Given the description of an element on the screen output the (x, y) to click on. 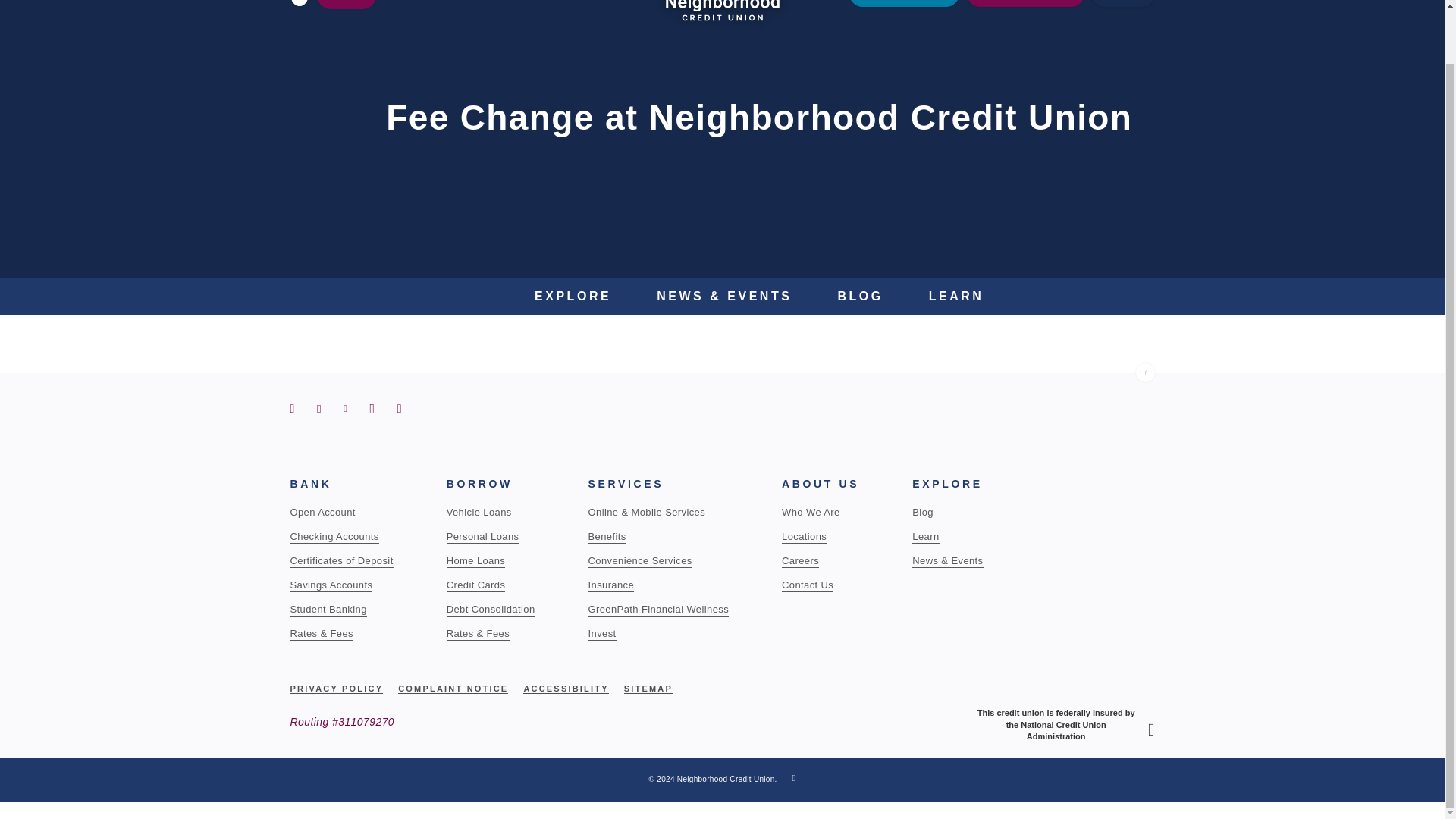
MENU (346, 4)
OPEN ACCOUNT (903, 3)
Login (56, 199)
APPLY FOR LOAN (1025, 3)
SEARCH SITE (298, 2)
LOGIN (1123, 3)
